Given the description of an element on the screen output the (x, y) to click on. 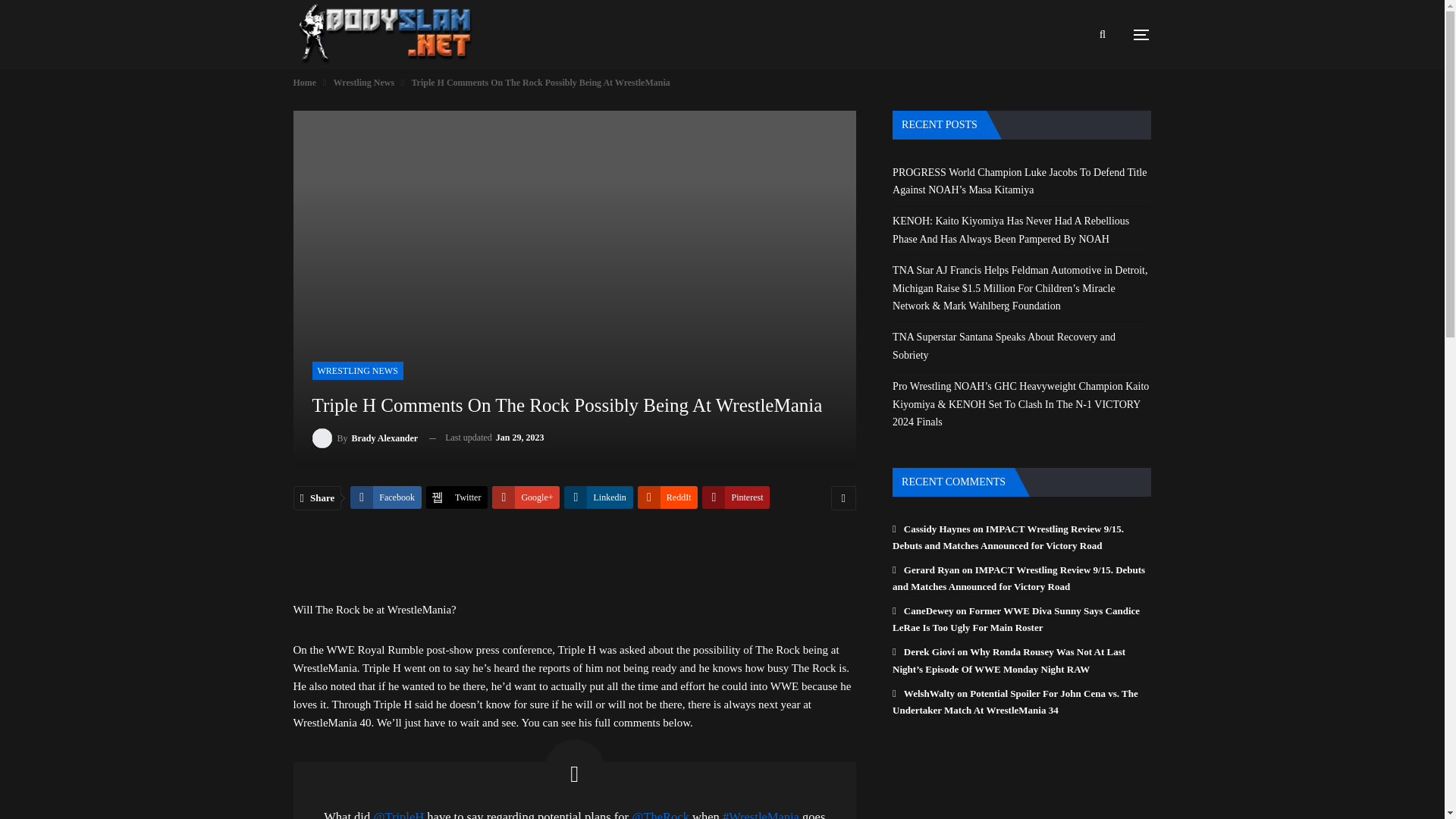
Facebook (386, 497)
Pinterest (735, 497)
Twitter (456, 497)
ReddIt (667, 497)
Wrestling News (363, 82)
Browse Author Articles (366, 437)
Home (303, 82)
Linkedin (597, 497)
WRESTLING NEWS (358, 370)
By Brady Alexander (366, 437)
